Given the description of an element on the screen output the (x, y) to click on. 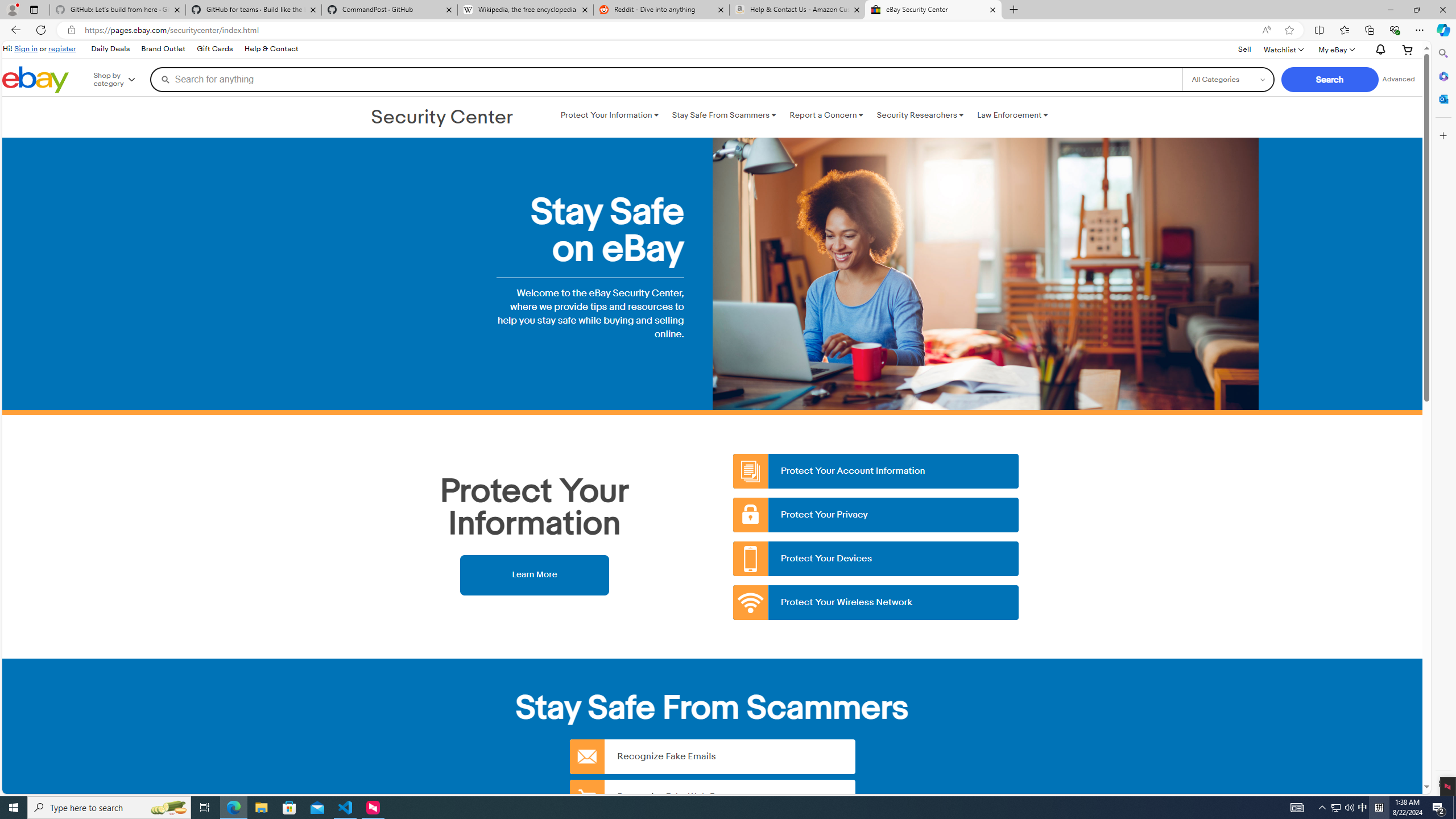
Help & Contact (271, 49)
Customize (1442, 135)
Search (1442, 53)
Brand Outlet (163, 49)
Help & Contact (270, 49)
eBay Home (35, 79)
Stay Safe From Scammers  (723, 115)
Gift Cards (214, 49)
Security Center (442, 117)
Shop by category (122, 79)
Stay Safe From Scammers  (723, 115)
Advanced Search (1398, 78)
